Given the description of an element on the screen output the (x, y) to click on. 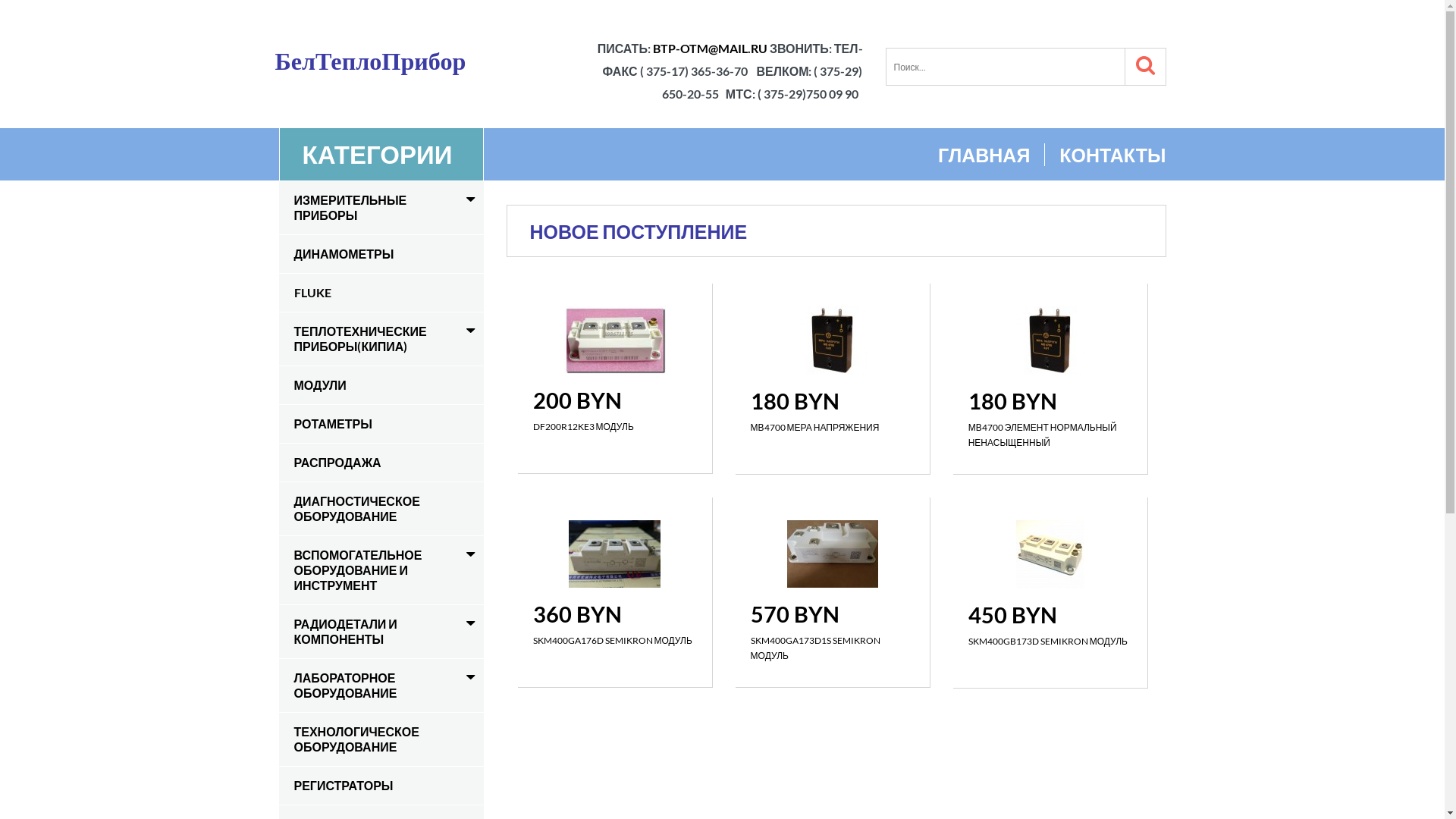
BTP-OTM@MAIL.RU Element type: text (709, 47)
FLUKE Element type: text (381, 291)
